Given the description of an element on the screen output the (x, y) to click on. 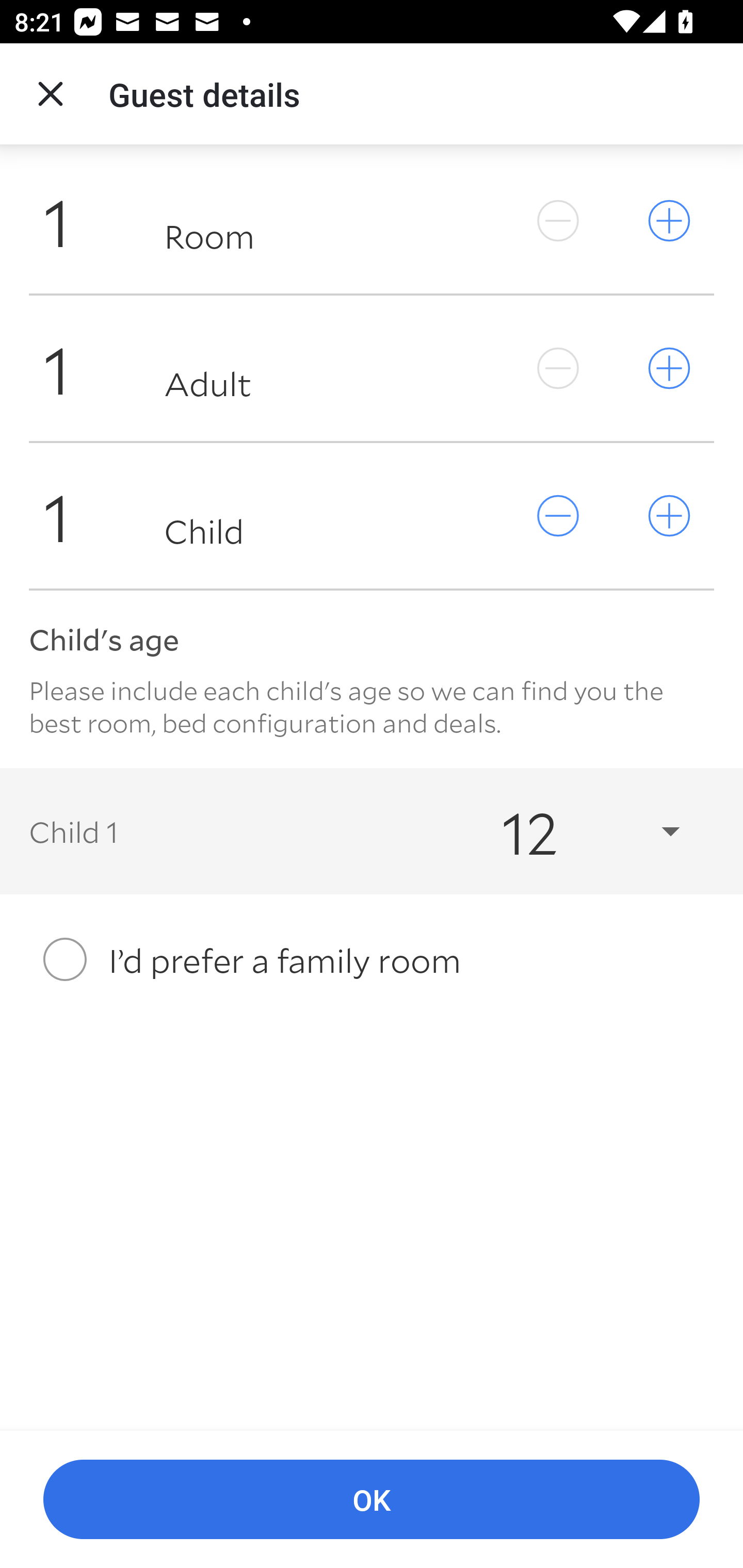
12 (573, 830)
I’d prefer a family room (371, 959)
OK (371, 1499)
